Given the description of an element on the screen output the (x, y) to click on. 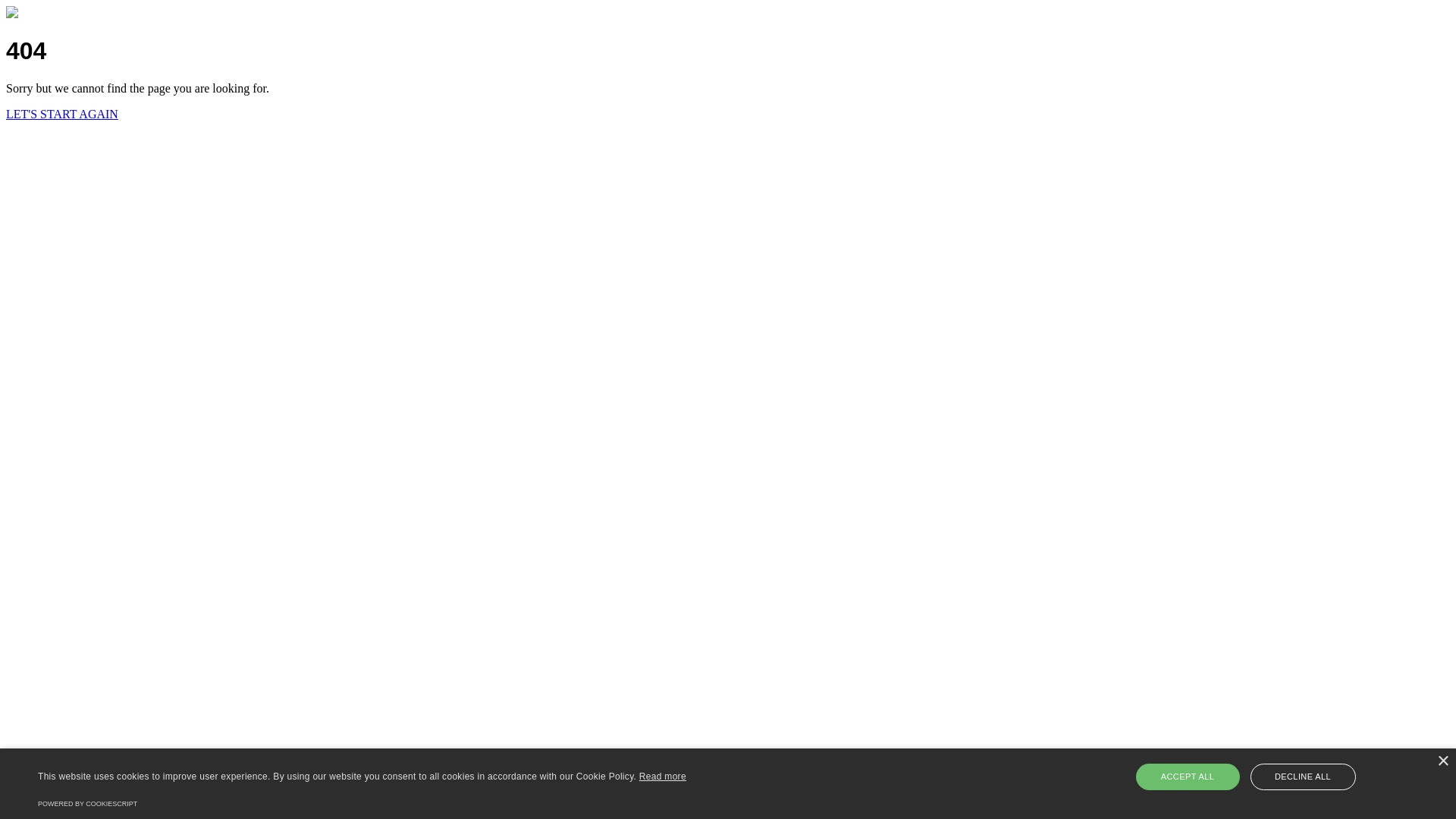
POWERED BY COOKIESCRIPT Element type: text (87, 803)
LET'S START AGAIN Element type: text (62, 113)
Read more Element type: text (662, 776)
